Given the description of an element on the screen output the (x, y) to click on. 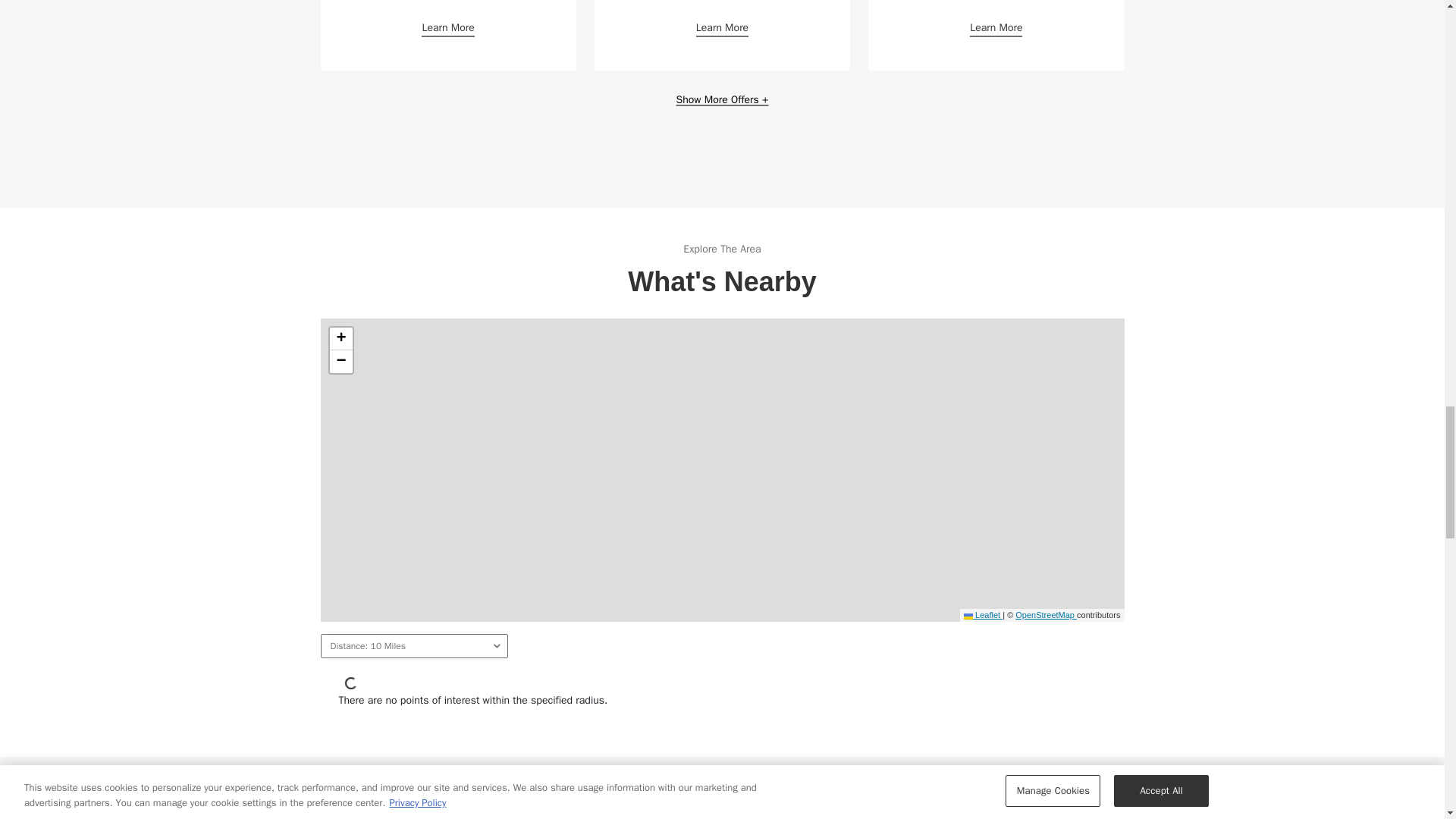
Leaflet (983, 614)
Learn More (721, 27)
A JavaScript library for interactive maps (983, 614)
Learn More (448, 27)
Learn More (995, 27)
Zoom out (340, 361)
OpenStreetMap (1045, 614)
Distance: 10 Miles (413, 645)
Zoom in (340, 338)
